Given the description of an element on the screen output the (x, y) to click on. 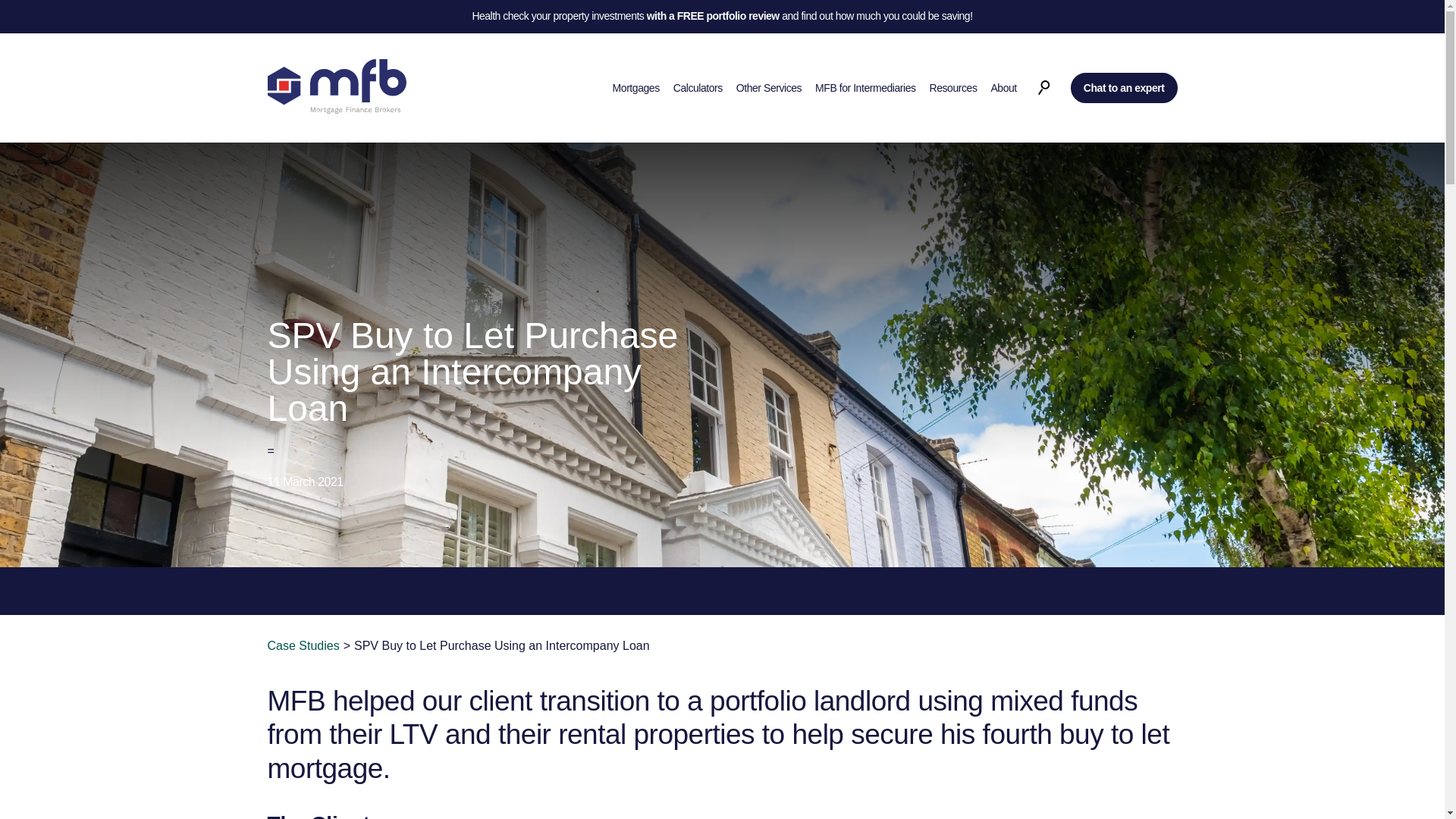
Free property portfolio review (712, 16)
Mortgages (635, 87)
Calculators (697, 87)
with a FREE portfolio review (712, 16)
